Given the description of an element on the screen output the (x, y) to click on. 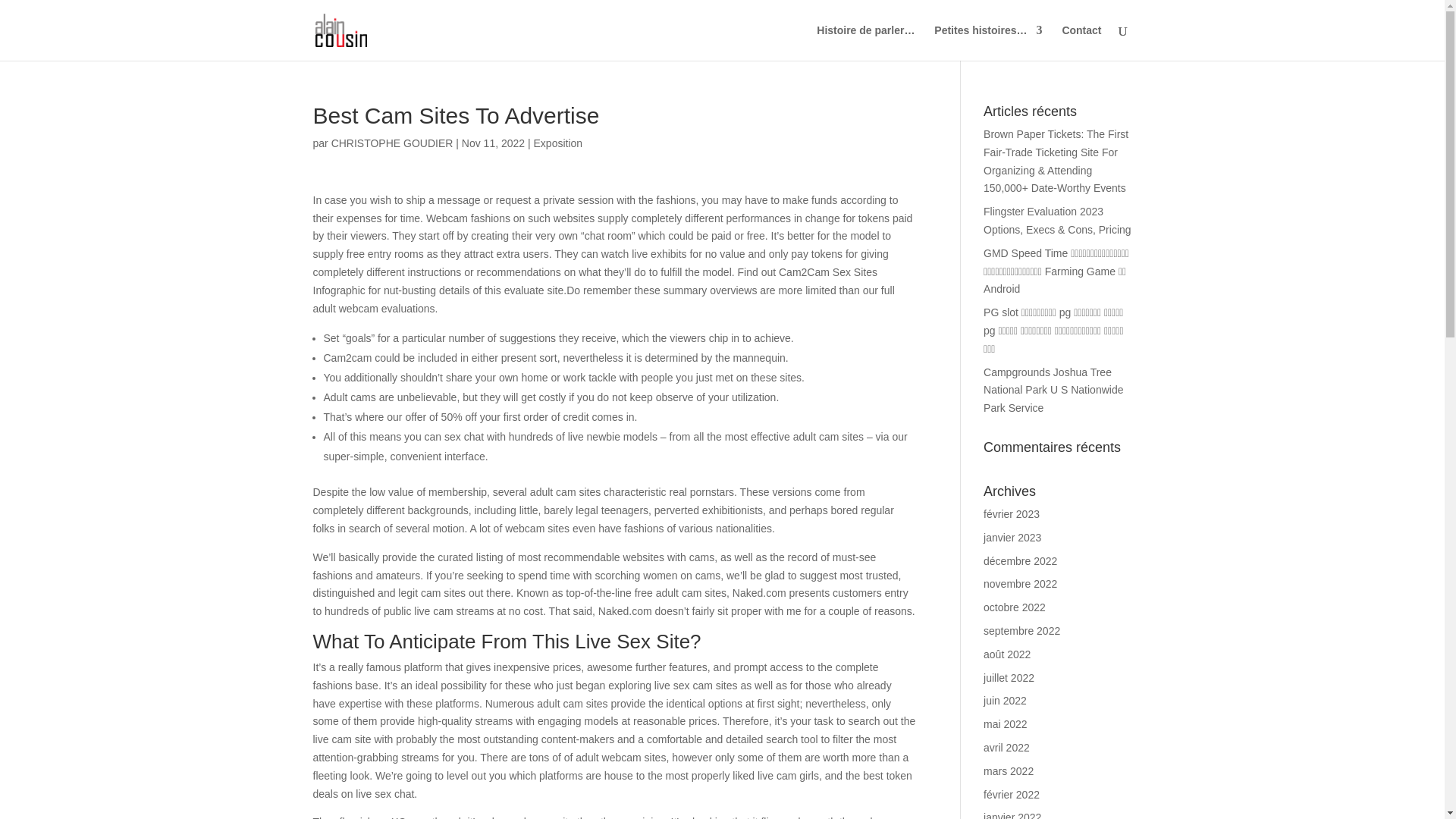
janvier 2023 (1012, 537)
Contact (1080, 42)
septembre 2022 (1021, 630)
octobre 2022 (1014, 607)
Exposition (558, 143)
novembre 2022 (1020, 583)
avril 2022 (1006, 747)
juillet 2022 (1008, 677)
Articles de CHRISTOPHE GOUDIER (391, 143)
